Given the description of an element on the screen output the (x, y) to click on. 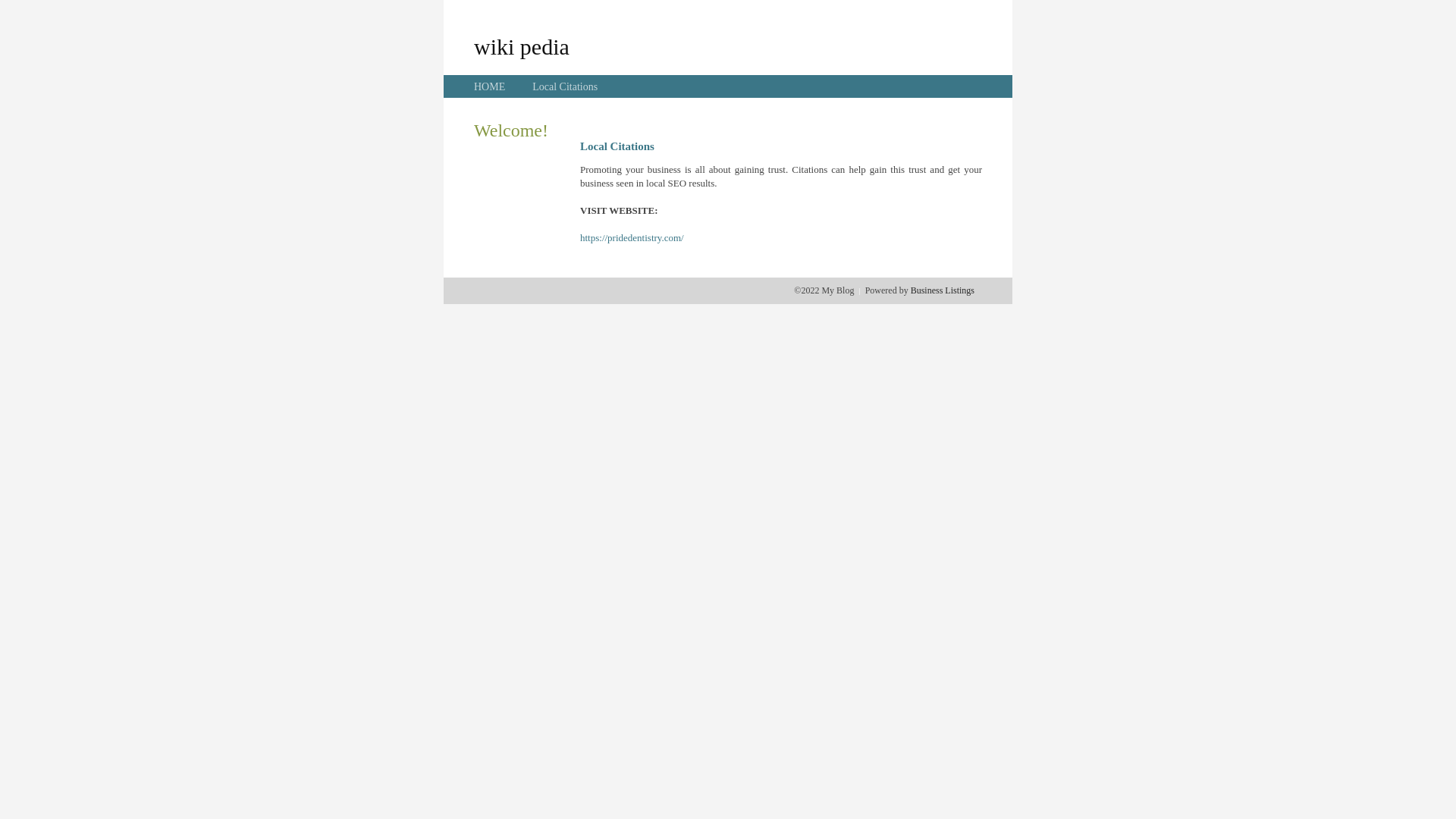
wiki pedia Element type: text (521, 46)
HOME Element type: text (489, 86)
Local Citations Element type: text (564, 86)
Business Listings Element type: text (942, 290)
https://pridedentistry.com/ Element type: text (632, 237)
